Given the description of an element on the screen output the (x, y) to click on. 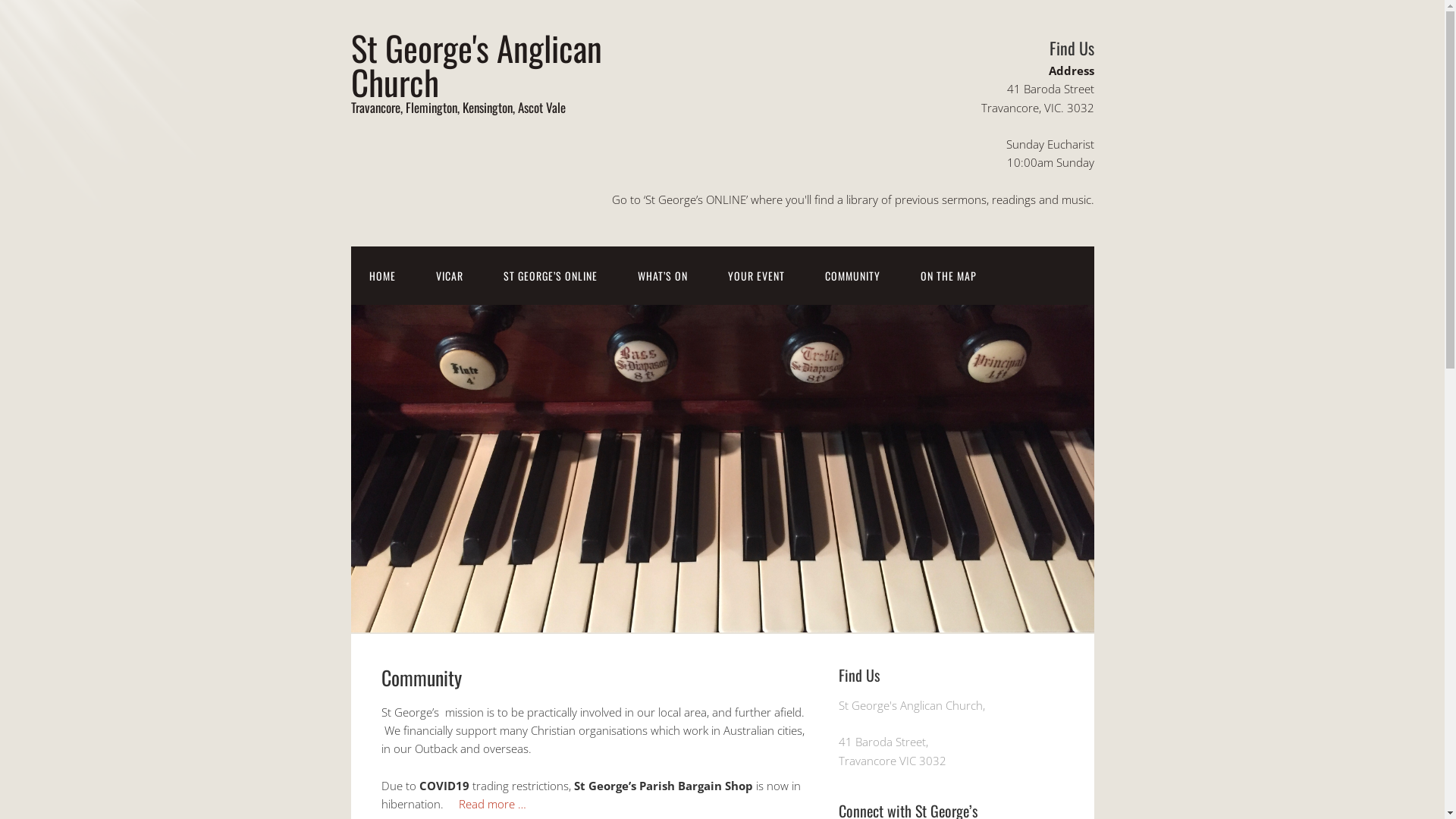
St George's Anglican Church Element type: text (475, 63)
HOME Element type: text (381, 275)
VICAR Element type: text (448, 275)
YOUR EVENT Element type: text (756, 275)
COMMUNITY Element type: text (852, 275)
ON THE MAP Element type: text (948, 275)
